Given the description of an element on the screen output the (x, y) to click on. 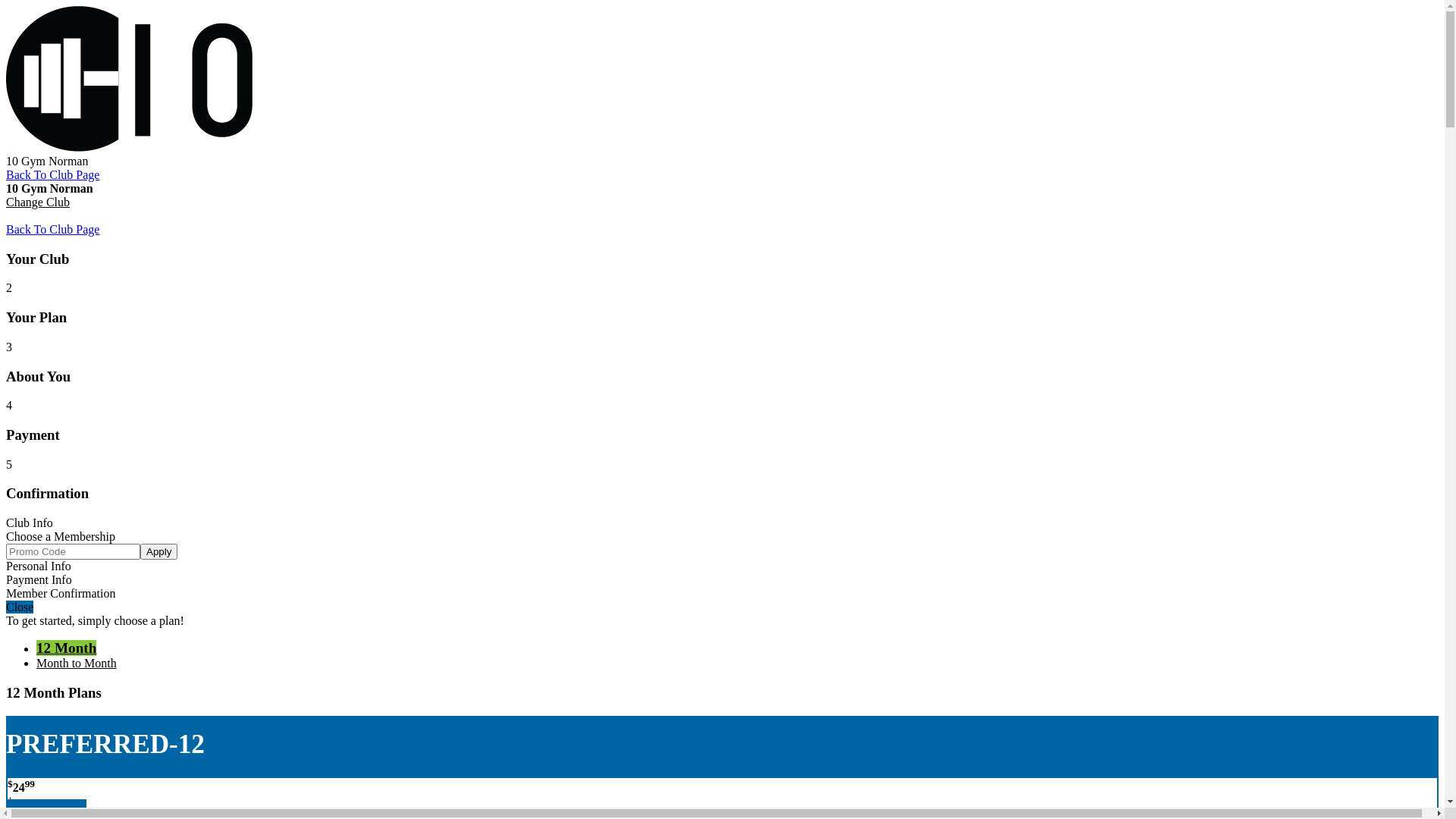
Close Element type: text (19, 606)
Back To Club Page Element type: text (52, 228)
Month to Month Element type: text (76, 662)
Back To Club Page Element type: text (52, 174)
Change Club Element type: text (37, 201)
Apply Element type: text (158, 551)
Change Club Element type: text (37, 215)
12 Month Element type: text (66, 647)
Join 10GYM Norman Element type: hover (283, 147)
